Given the description of an element on the screen output the (x, y) to click on. 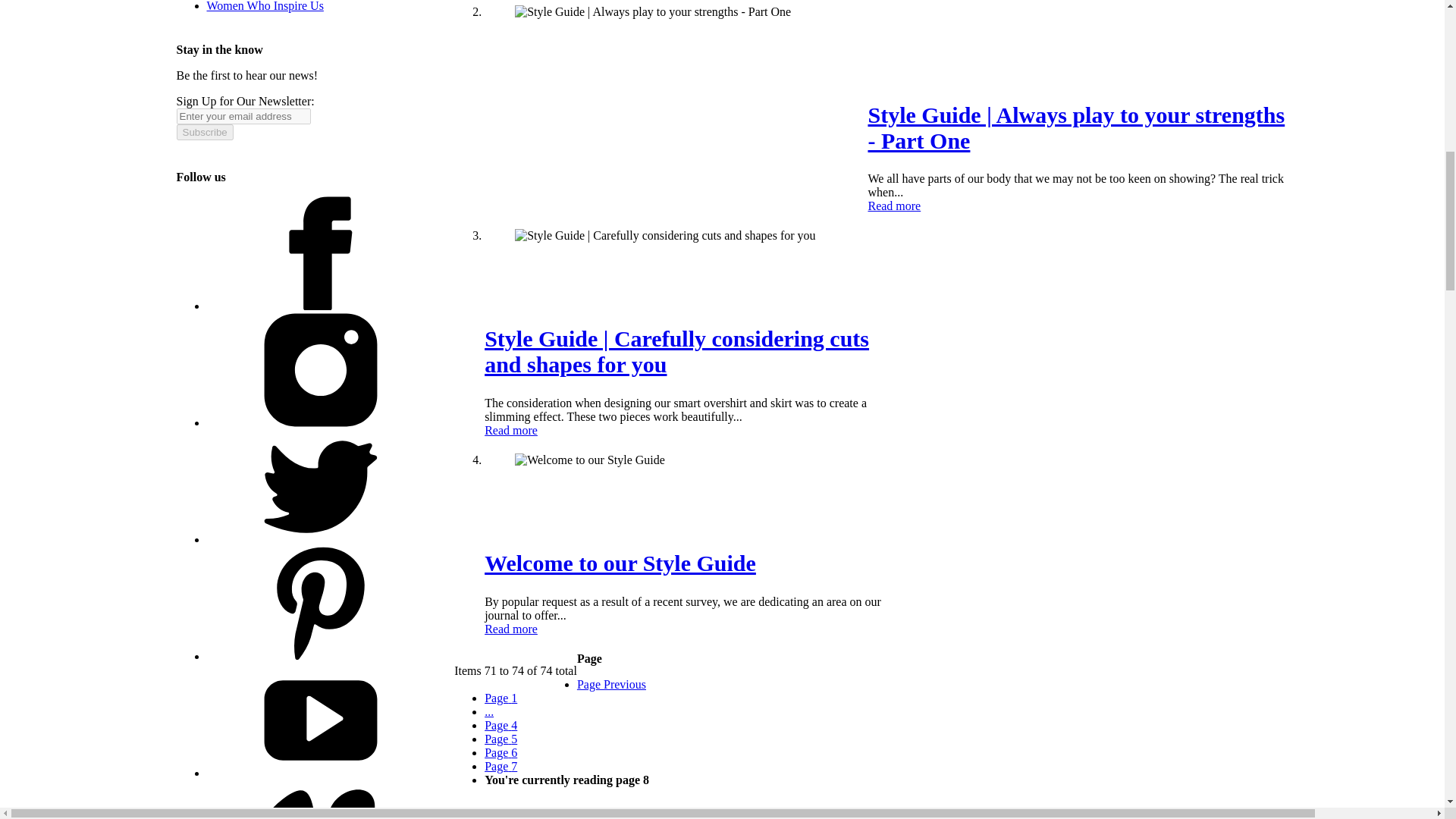
Previous (611, 684)
Welcome to our Style Guide (619, 562)
Welcome to our Style Guide (510, 628)
